Given the description of an element on the screen output the (x, y) to click on. 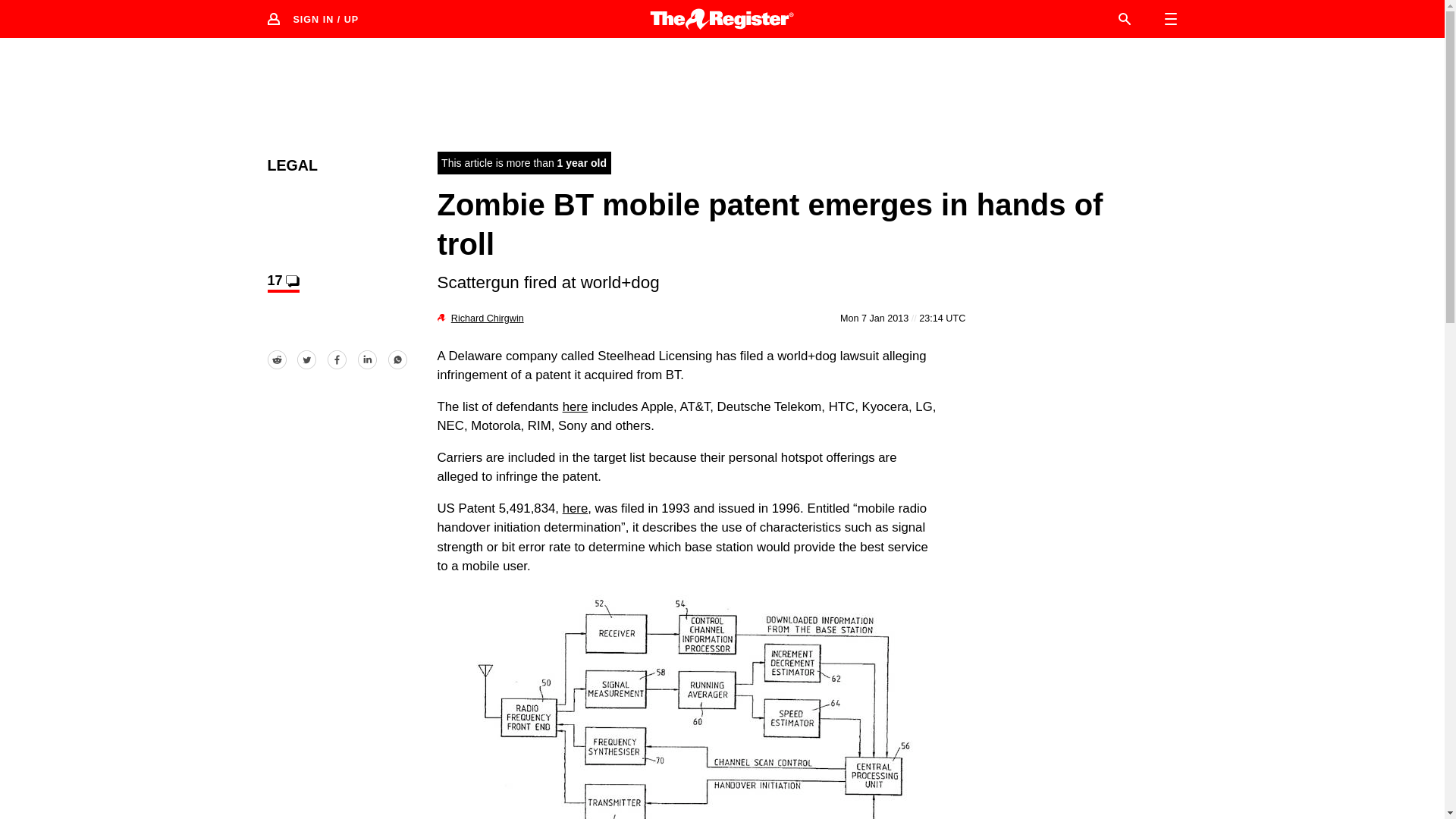
View comments on this article (282, 282)
Read more by this author (487, 318)
